Given the description of an element on the screen output the (x, y) to click on. 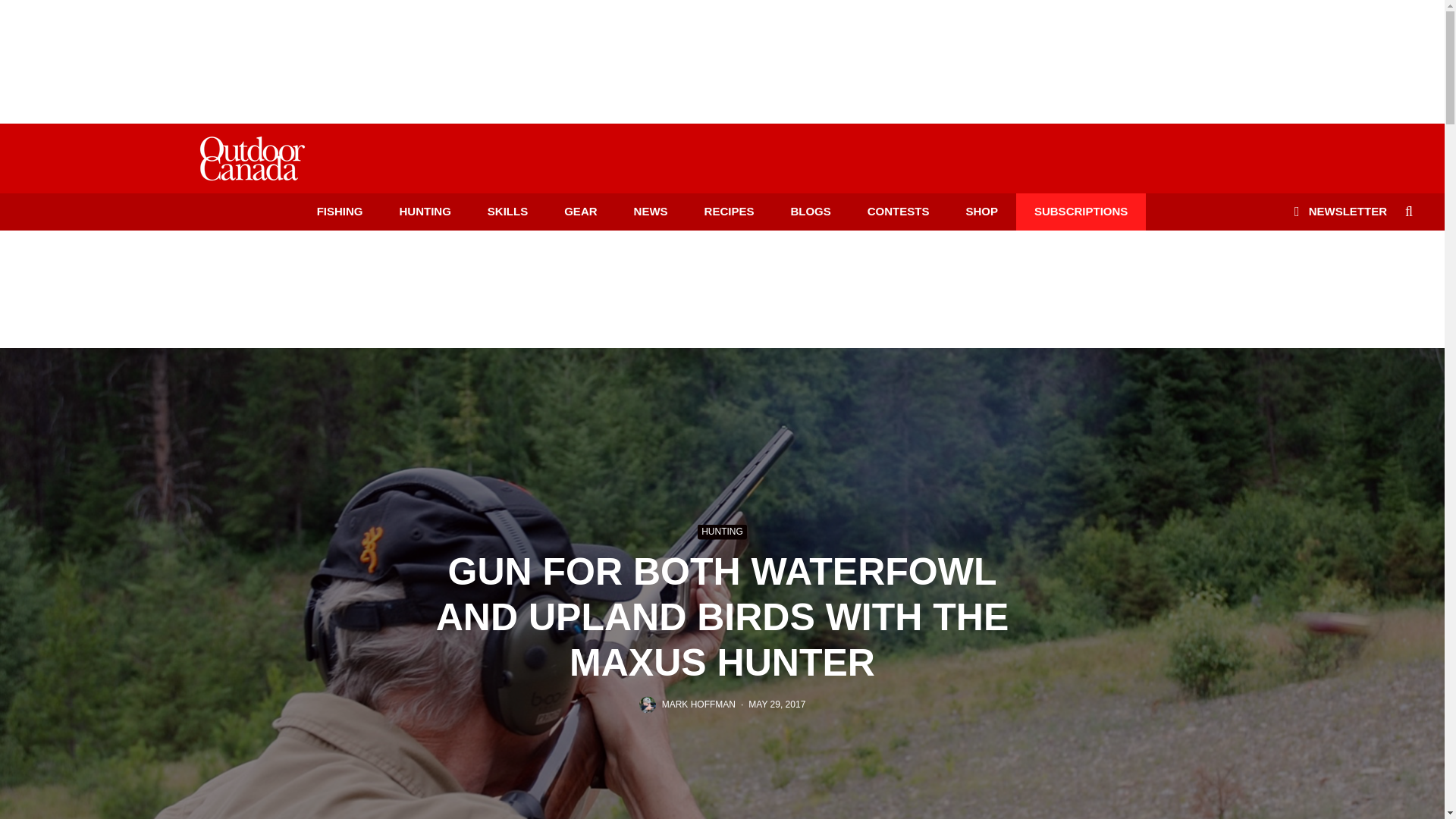
NEWS (650, 211)
GEAR (580, 211)
CONTESTS (897, 211)
FISHING (339, 211)
3rd party ad content (721, 51)
3rd party ad content (721, 287)
SKILLS (507, 211)
HUNTING (424, 211)
BLOGS (809, 211)
RECIPES (729, 211)
